Given the description of an element on the screen output the (x, y) to click on. 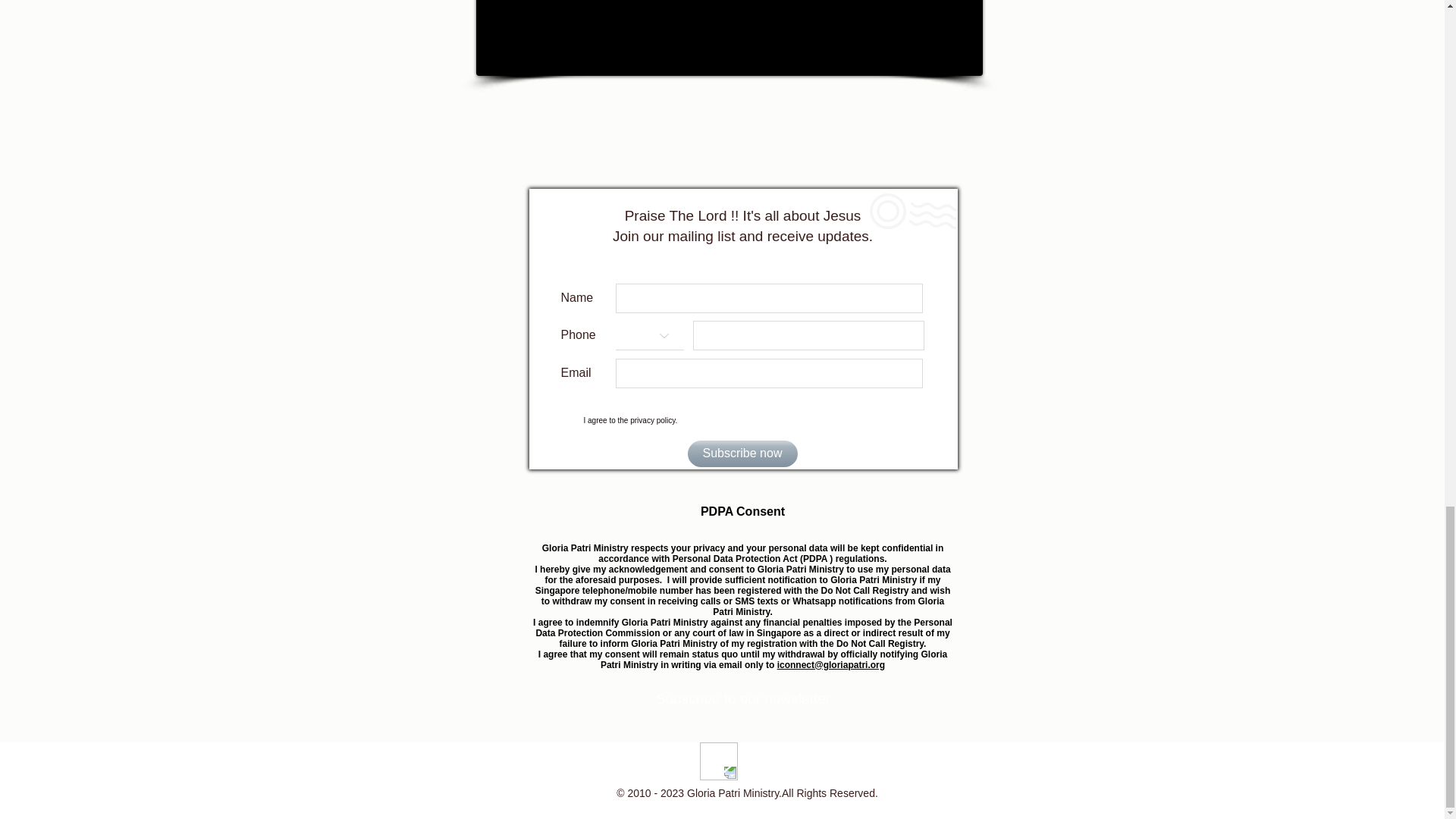
Subscribe now (741, 453)
Subscribe to our newsletter (742, 698)
External YouTube (729, 36)
